Given the description of an element on the screen output the (x, y) to click on. 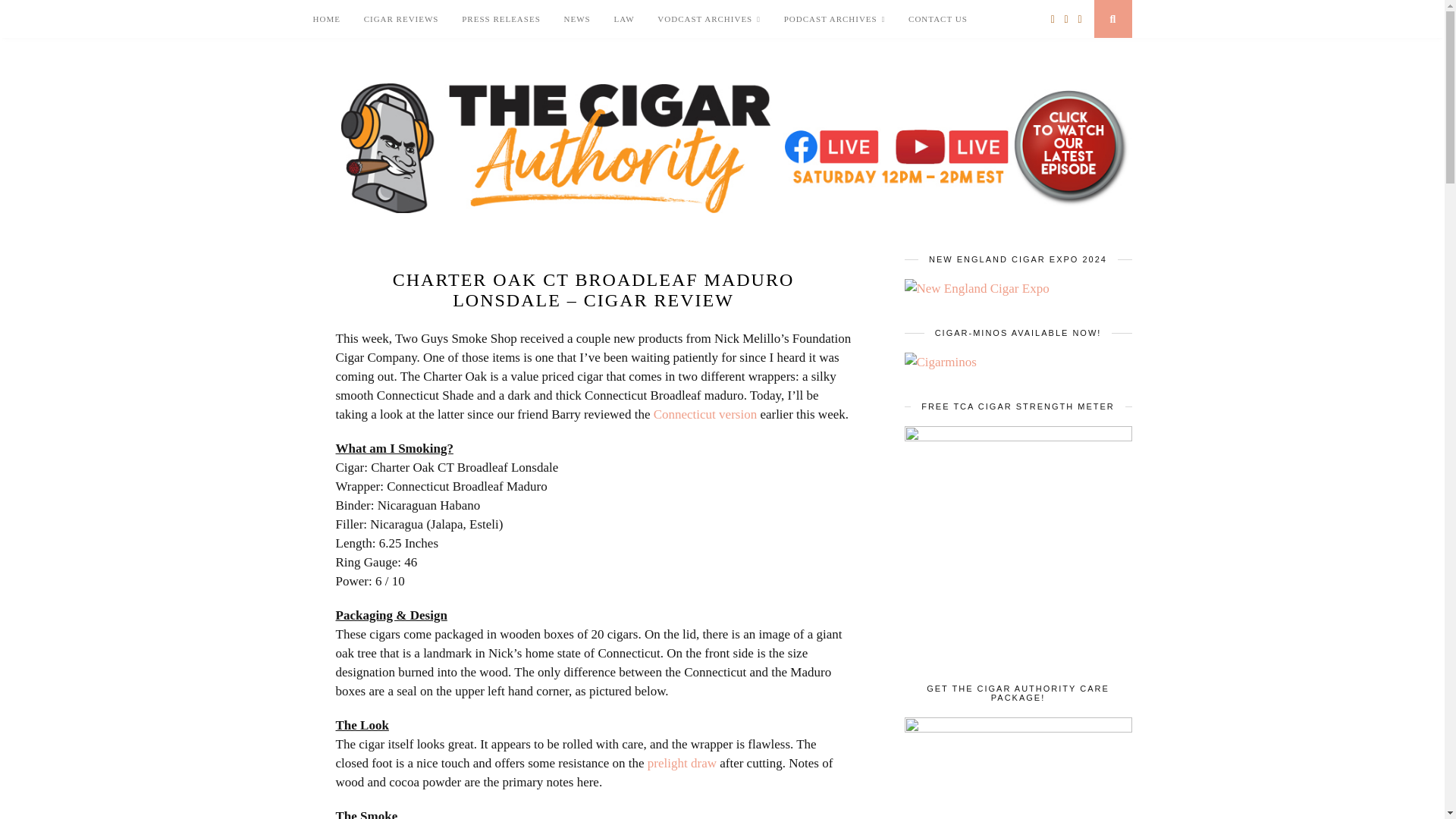
PRESS RELEASES (500, 18)
VODCAST ARCHIVES (709, 19)
Connecticut version (705, 414)
CIGAR REVIEWS (401, 18)
PODCAST ARCHIVES (834, 19)
prelight draw (681, 762)
CONTACT US (938, 18)
